Given the description of an element on the screen output the (x, y) to click on. 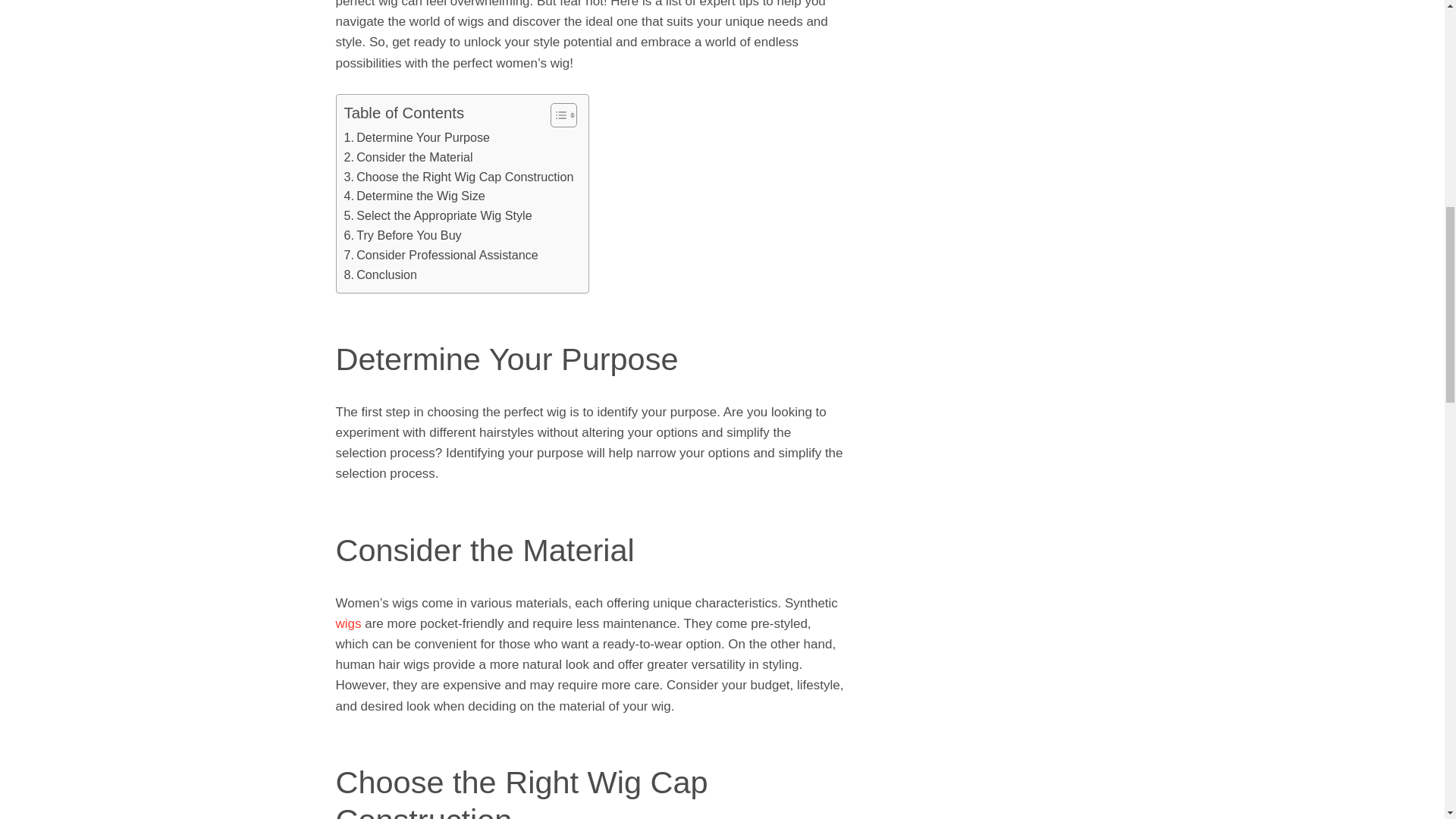
Determine Your Purpose (416, 137)
Consider the Material (408, 157)
Determine the Wig Size (413, 196)
wigs (349, 623)
Conclusion (380, 275)
Try Before You Buy (402, 235)
Select the Appropriate Wig Style (437, 216)
Consider Professional Assistance (440, 255)
Select the Appropriate Wig Style (437, 216)
Choose the Right Wig Cap Construction (458, 177)
